Given the description of an element on the screen output the (x, y) to click on. 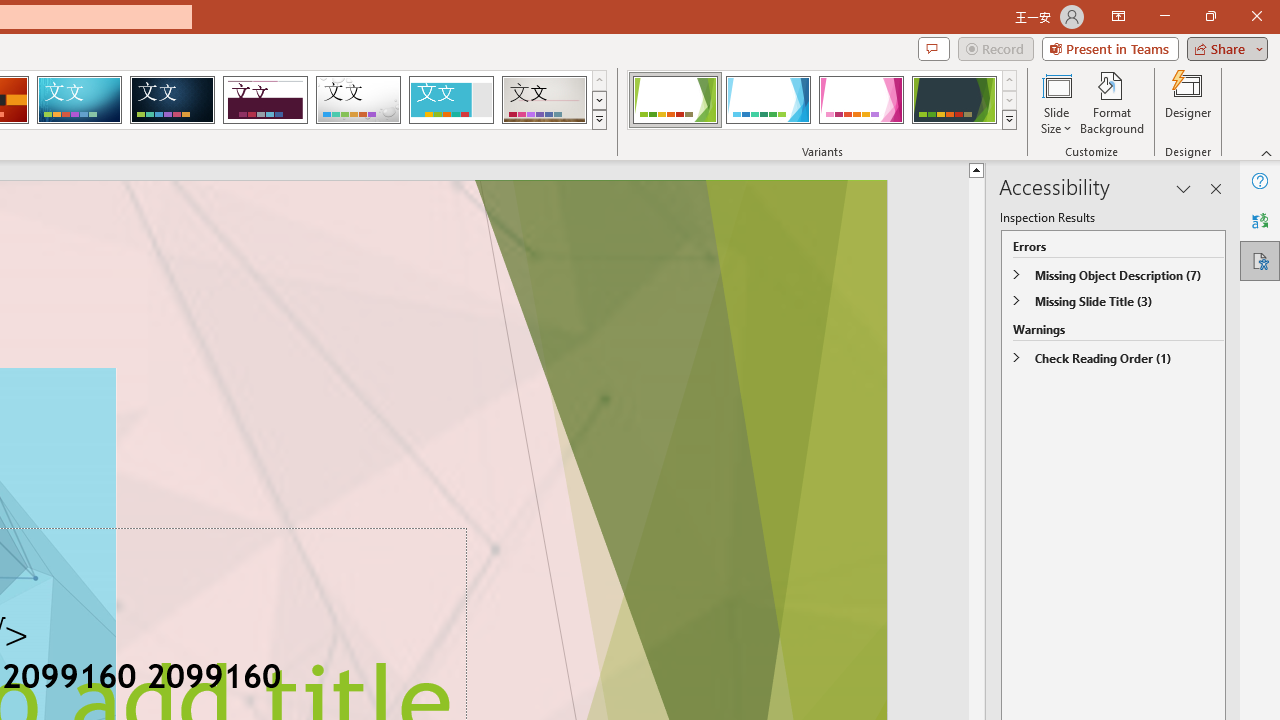
Format Background (1111, 102)
AutomationID: ThemeVariantsGallery (822, 99)
Frame (450, 100)
Facet Variant 3 (861, 100)
Facet Variant 2 (768, 100)
